Given the description of an element on the screen output the (x, y) to click on. 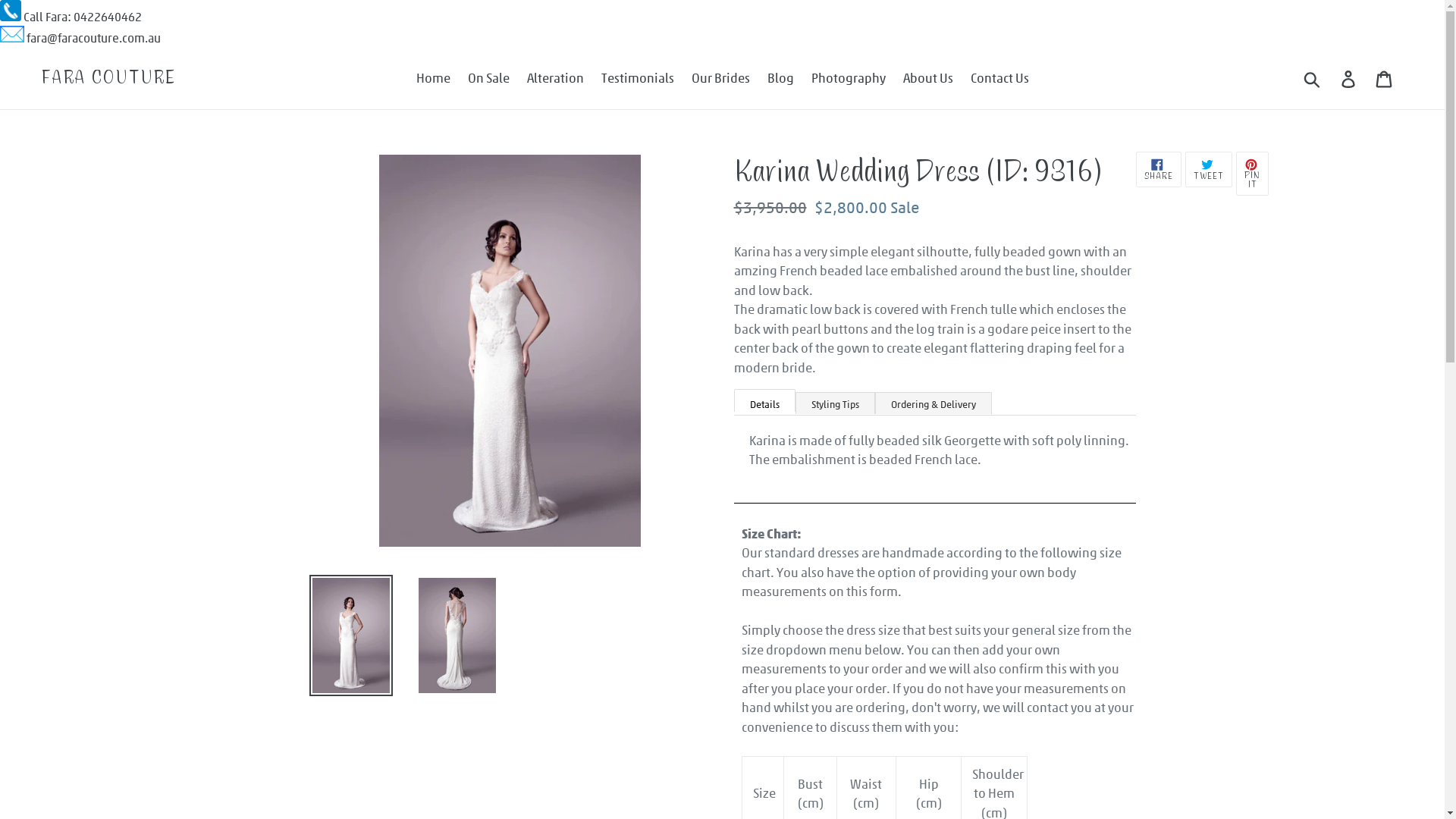
Ordering & Delivery Element type: text (933, 402)
Log in Element type: text (1349, 77)
TWEET
TWEET ON TWITTER Element type: text (1208, 169)
About Us Element type: text (927, 77)
Details Element type: text (764, 399)
Our Brides Element type: text (720, 77)
FARA COUTURE Element type: text (108, 77)
SHARE
SHARE ON FACEBOOK Element type: text (1158, 169)
Styling Tips Element type: text (834, 402)
Call Fara: 0422640462 Element type: text (82, 16)
fara@faracouture.com.au Element type: text (93, 37)
Blog Element type: text (780, 77)
Photography Element type: text (848, 77)
Submit Element type: text (1312, 77)
Alteration Element type: text (554, 77)
Testimonials Element type: text (636, 77)
Contact Us Element type: text (999, 77)
On Sale Element type: text (487, 77)
PIN IT
PIN ON PINTEREST Element type: text (1252, 173)
Home Element type: text (432, 77)
Cart Element type: text (1384, 77)
